Given the description of an element on the screen output the (x, y) to click on. 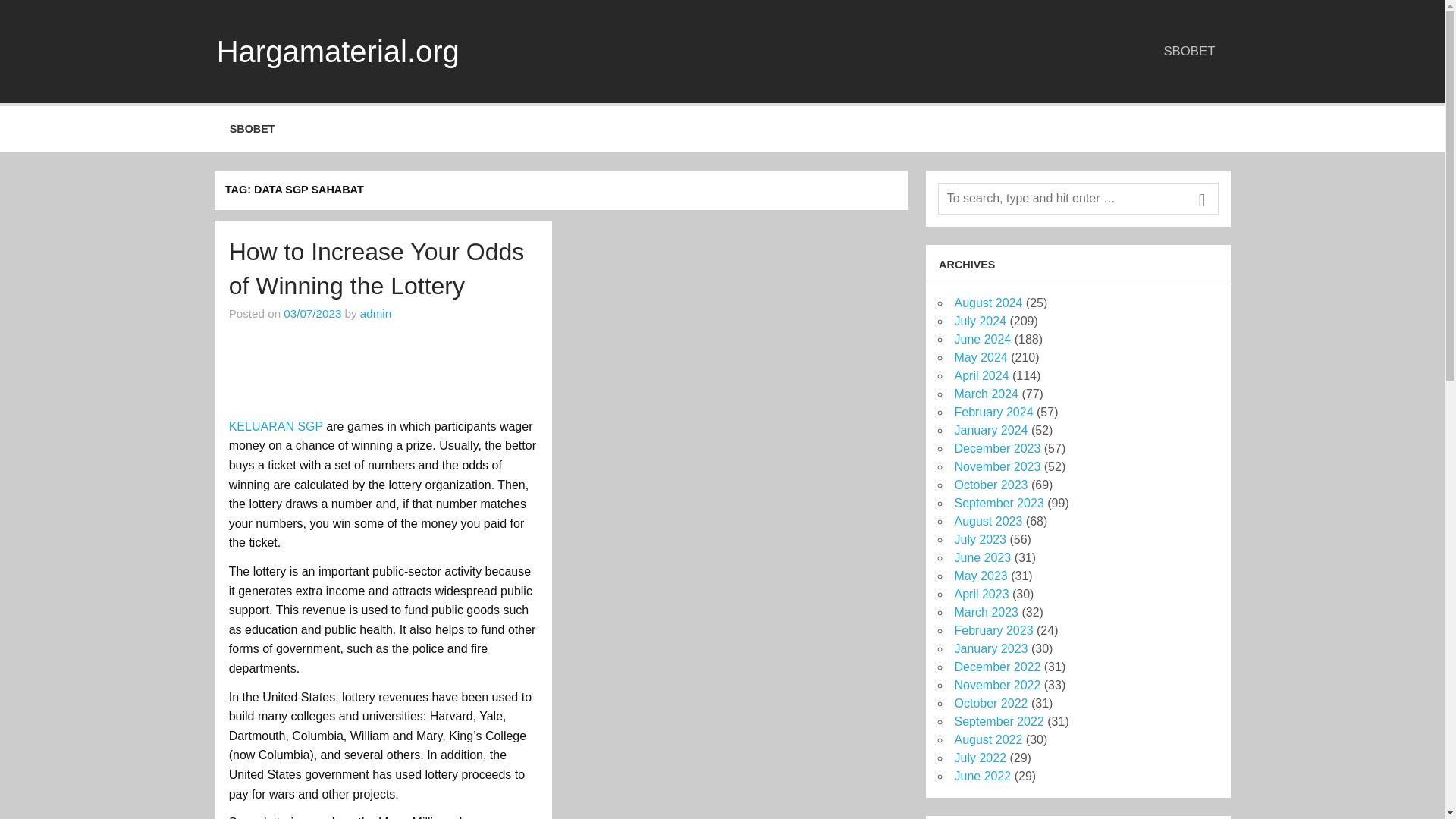
July 2024 (979, 320)
admin (375, 313)
June 2024 (981, 338)
How to Increase Your Odds of Winning the Lottery (376, 268)
View all posts by admin (375, 313)
January 2023 (990, 648)
April 2023 (981, 594)
KELUARAN SGP (275, 426)
6:46 PM (311, 313)
June 2022 (981, 775)
September 2022 (998, 721)
October 2023 (990, 484)
August 2022 (987, 739)
September 2023 (998, 502)
Hargamaterial.org (338, 51)
